Given the description of an element on the screen output the (x, y) to click on. 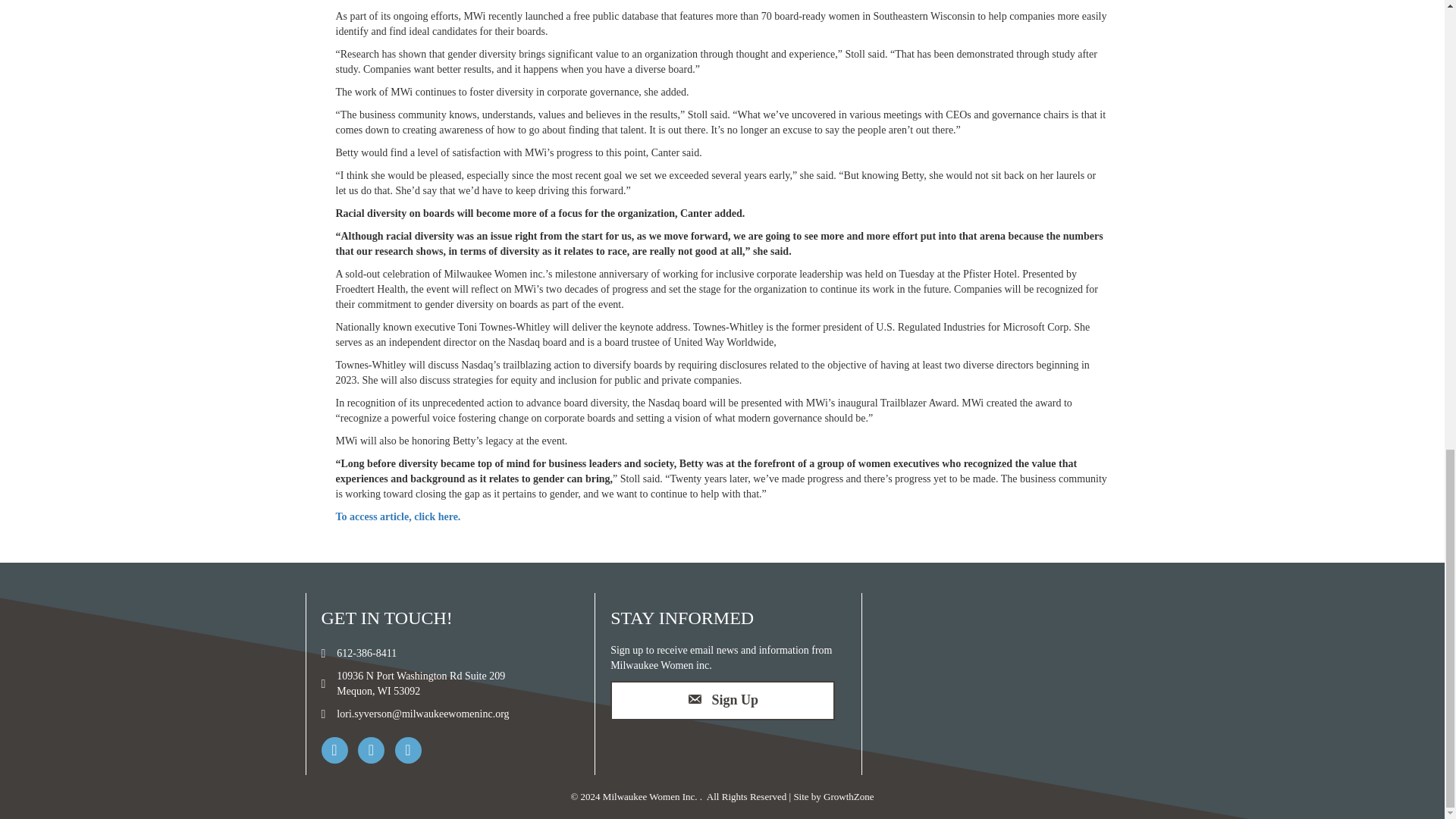
To access article, click here. (397, 516)
GrowthZone (848, 796)
Sign Up (420, 684)
612-386-8411 (722, 700)
favicon (366, 653)
